Given the description of an element on the screen output the (x, y) to click on. 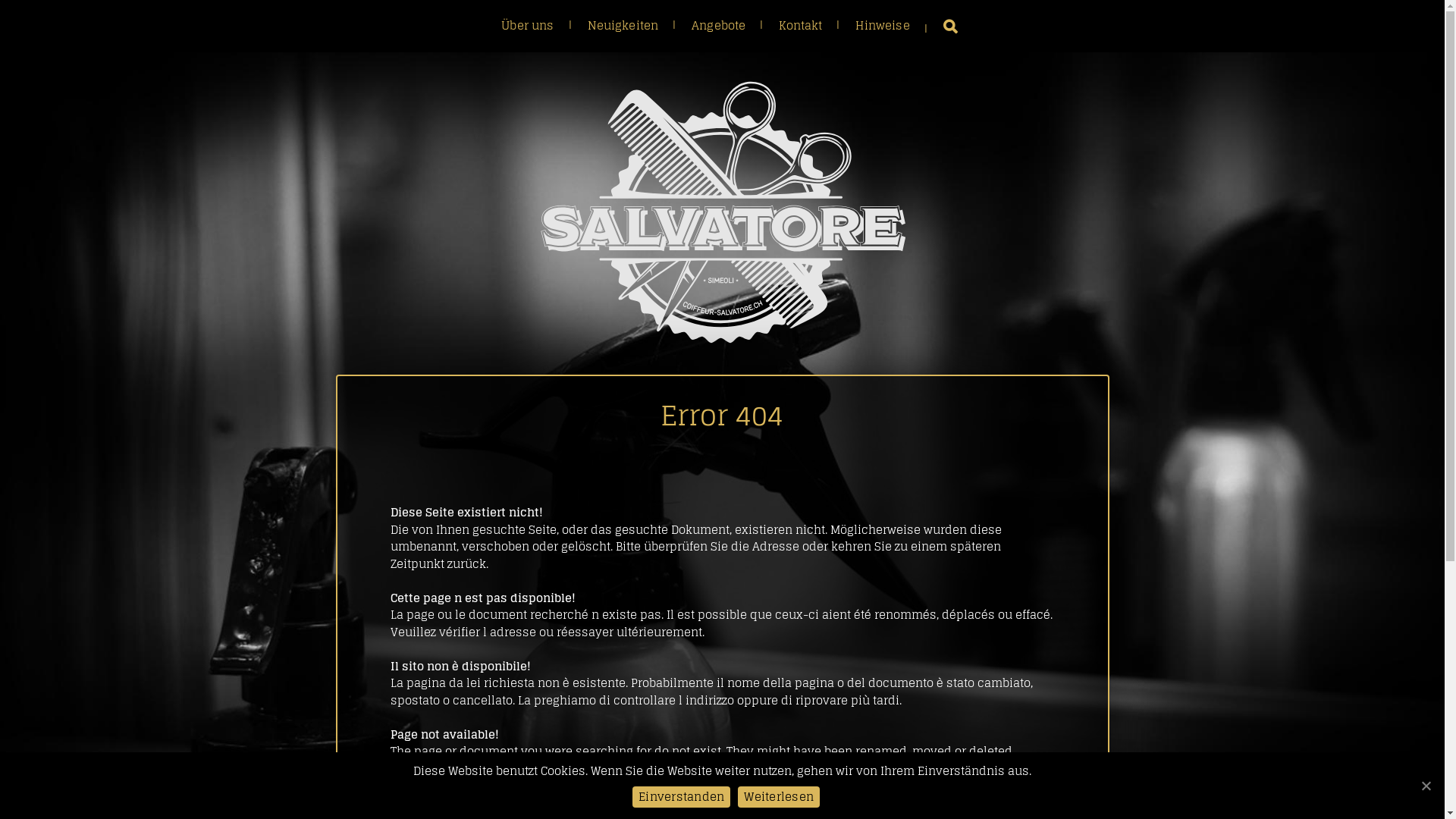
Neuigkeiten Element type: text (622, 26)
Coiffeur Salvatore Element type: hover (721, 212)
Kontakt Element type: text (800, 26)
Angebote Element type: text (718, 26)
Hinweise Element type: text (882, 26)
Weiterlesen Element type: text (778, 796)
Einverstanden Element type: text (681, 796)
